Given the description of an element on the screen output the (x, y) to click on. 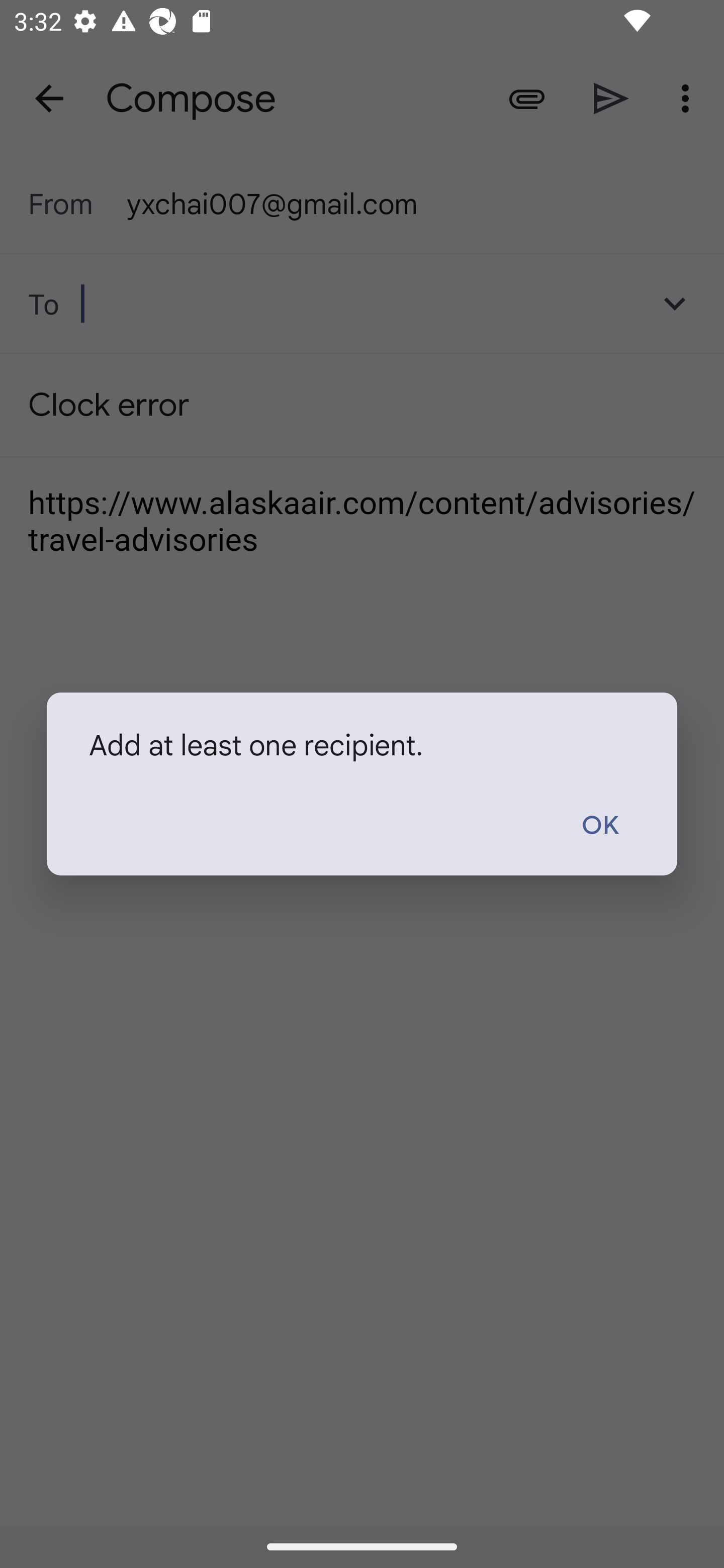
OK (599, 826)
